Given the description of an element on the screen output the (x, y) to click on. 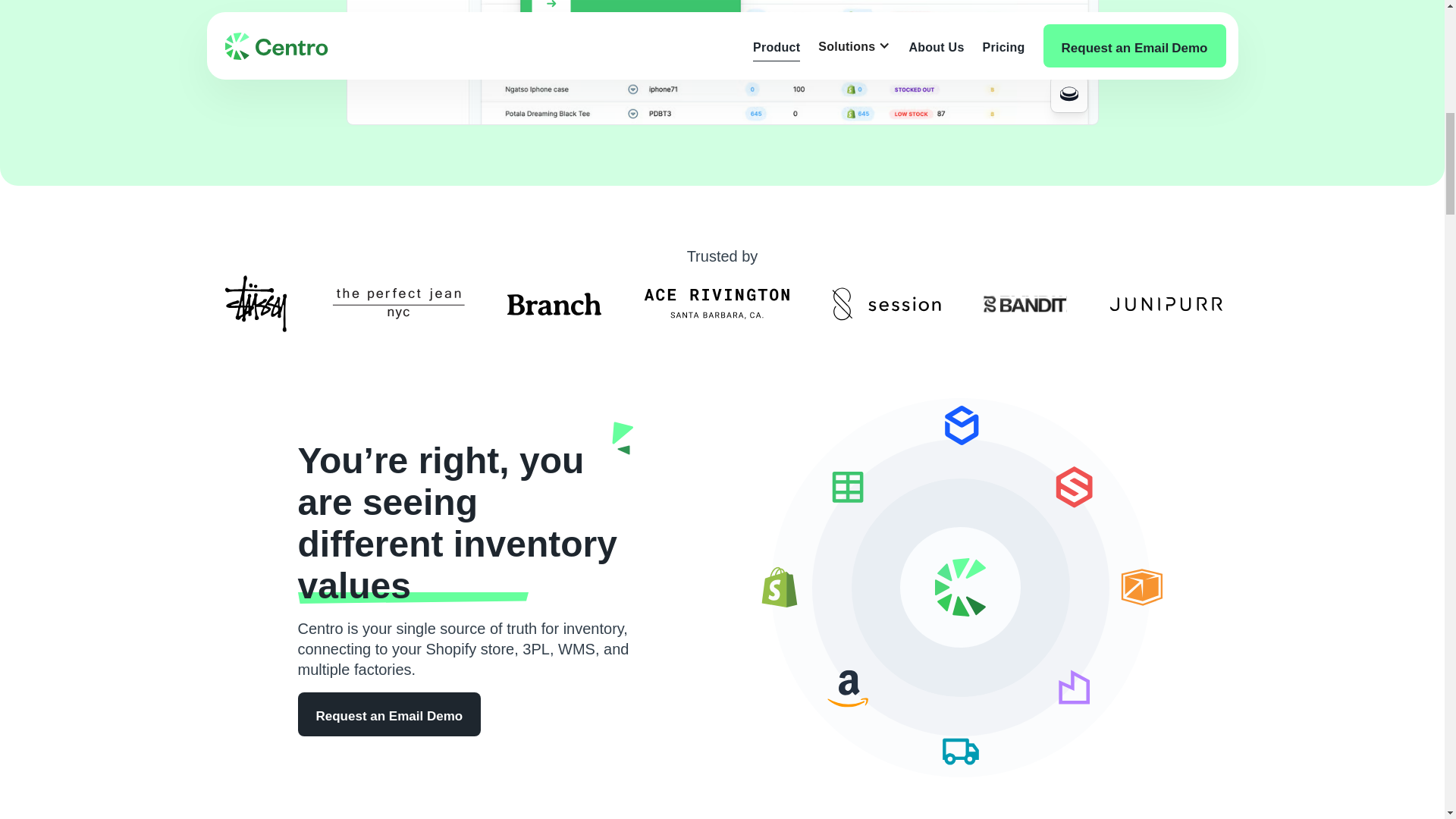
Request an Email Demo (388, 713)
